Given the description of an element on the screen output the (x, y) to click on. 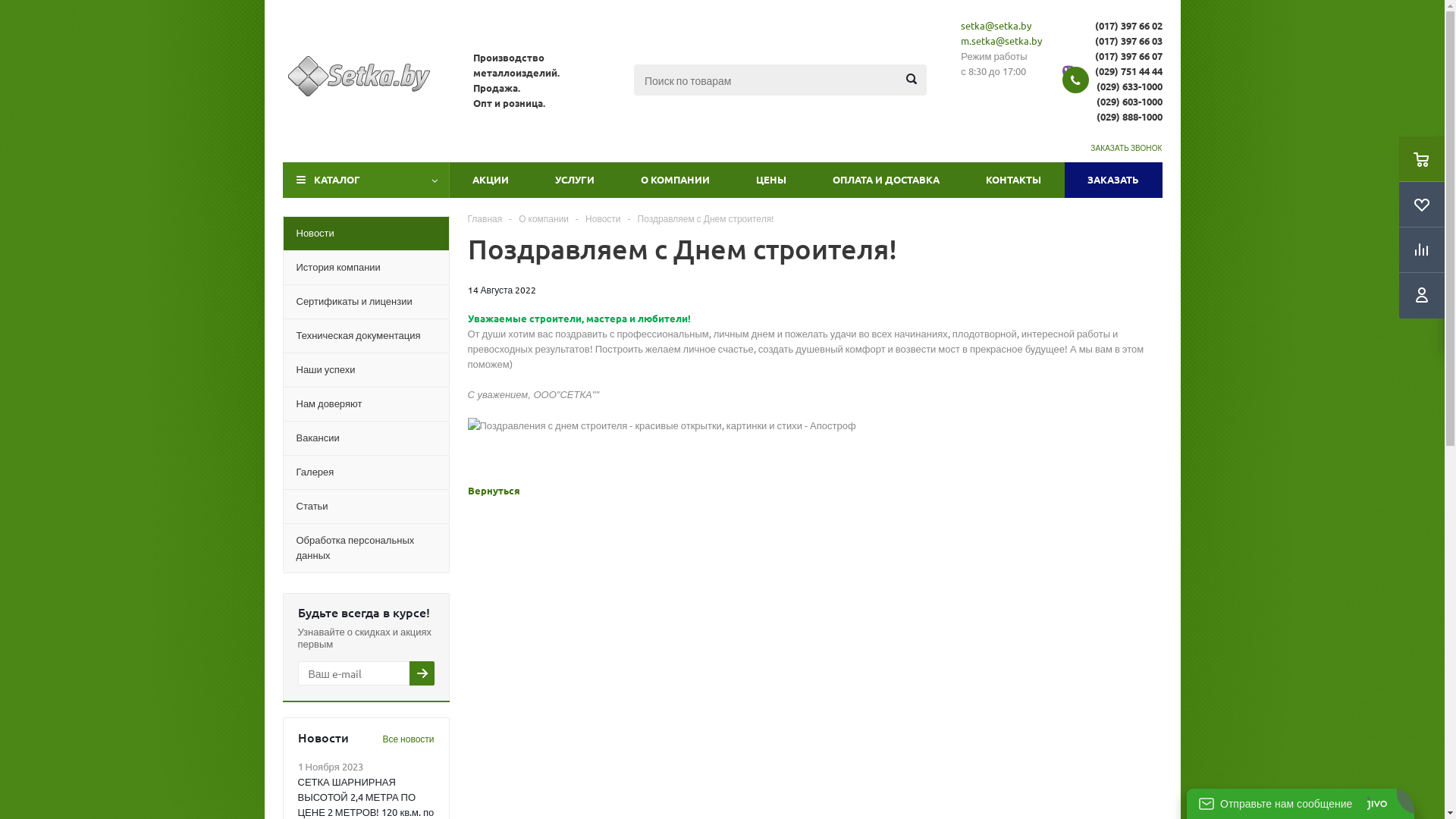
m.setka@setka.by Element type: text (1000, 40)
setka@setka.by Element type: text (995, 24)
